Given the description of an element on the screen output the (x, y) to click on. 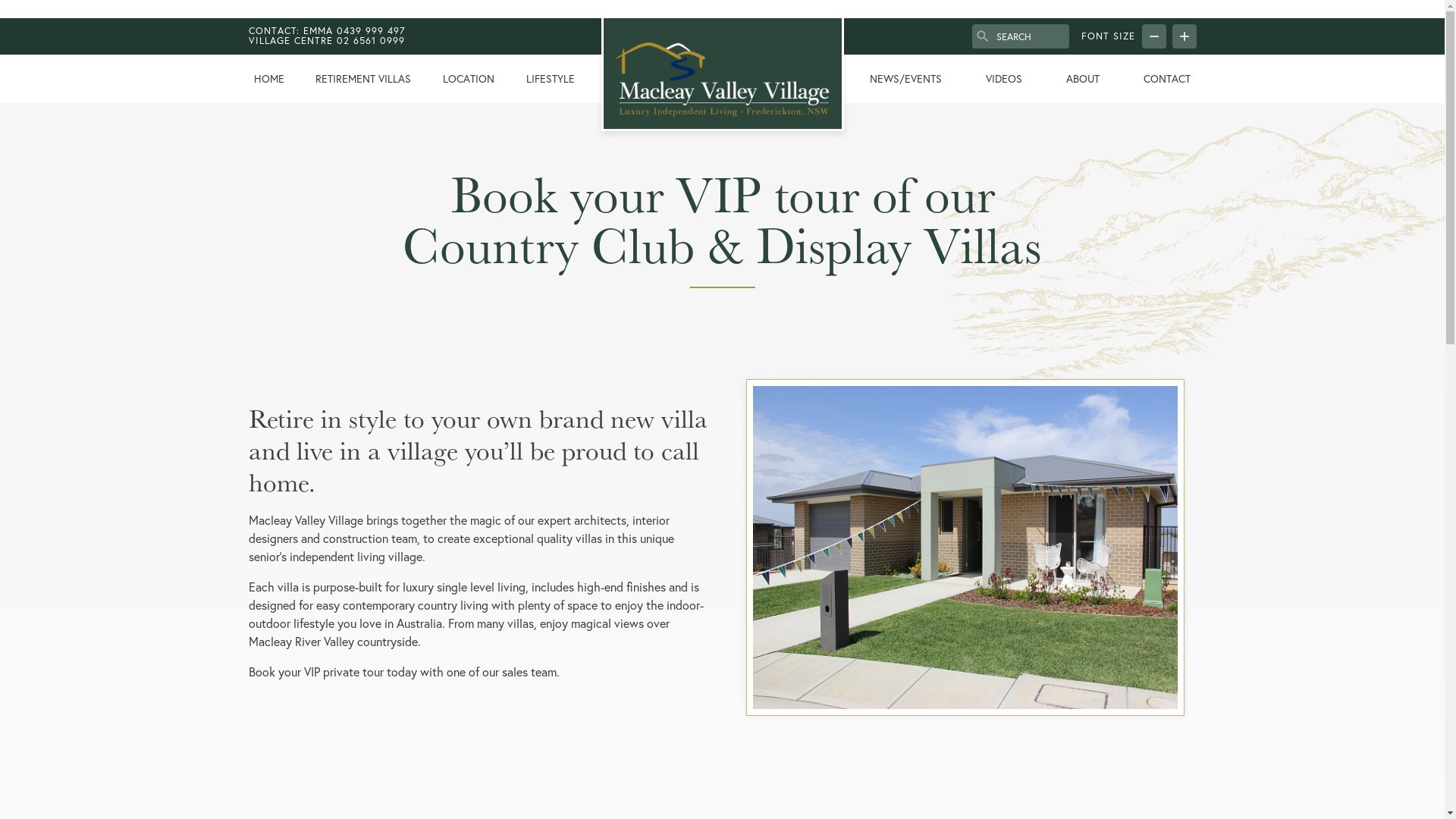
NEWS/EVENTS Element type: text (905, 78)
EMMA 0439 999 497 Element type: text (353, 30)
CONTACT Element type: text (1166, 78)
LIFESTYLE Element type: text (550, 78)
VIDEOS Element type: text (1003, 78)
RETIREMENT VILLAS Element type: text (363, 78)
VILLAGE CENTRE 02 6561 0999 Element type: text (326, 45)
LOCATION Element type: text (468, 78)
ABOUT Element type: text (1082, 78)
HOME Element type: text (268, 78)
